Given the description of an element on the screen output the (x, y) to click on. 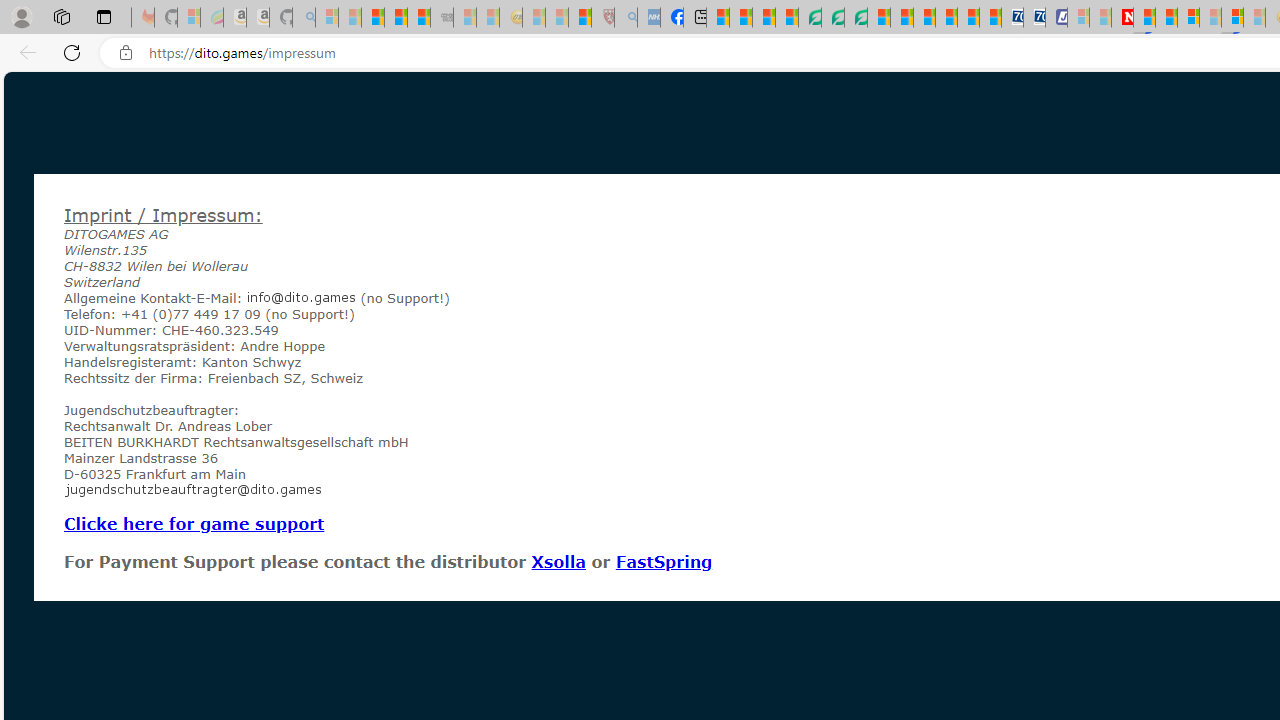
14 Common Myths Debunked By Scientific Facts (1166, 17)
Xsolla (558, 561)
Combat Siege (442, 17)
